Given the description of an element on the screen output the (x, y) to click on. 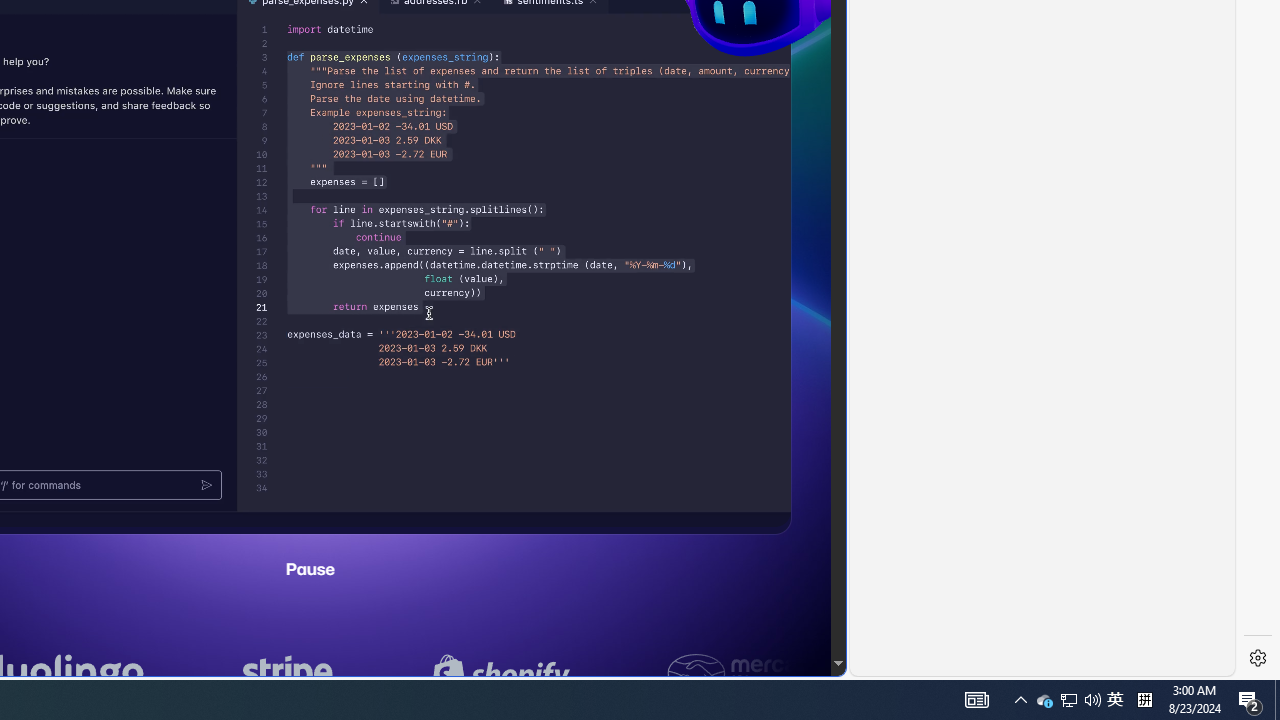
Stripe's logo (575, 674)
Duolingo's logo (350, 673)
Shopify's logo (788, 673)
Coyote Logistics's logo (113, 673)
